Given the description of an element on the screen output the (x, y) to click on. 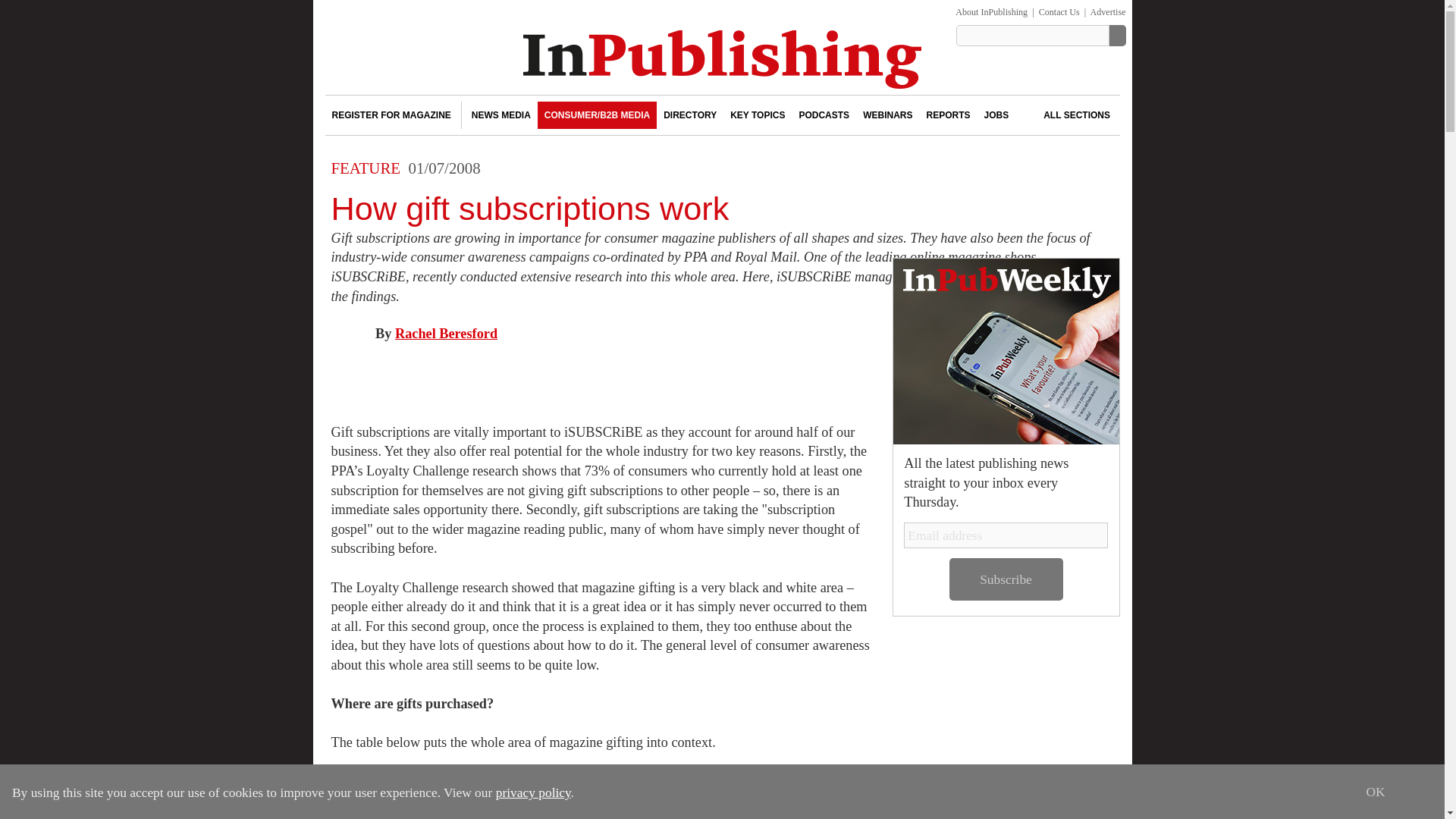
WEBINARS (887, 114)
Rachel Beresford (445, 333)
Subscribe (1005, 578)
REGISTER FOR MAGAZINE (390, 114)
PODCASTS (824, 114)
REPORTS (947, 114)
About InPublishing (991, 11)
Advertise (1107, 11)
NEWS MEDIA (500, 114)
DIRECTORY (689, 114)
ALL SECTIONS (1065, 114)
KEY TOPICS (757, 114)
JOBS (995, 114)
Contact Us (1059, 11)
